Given the description of an element on the screen output the (x, y) to click on. 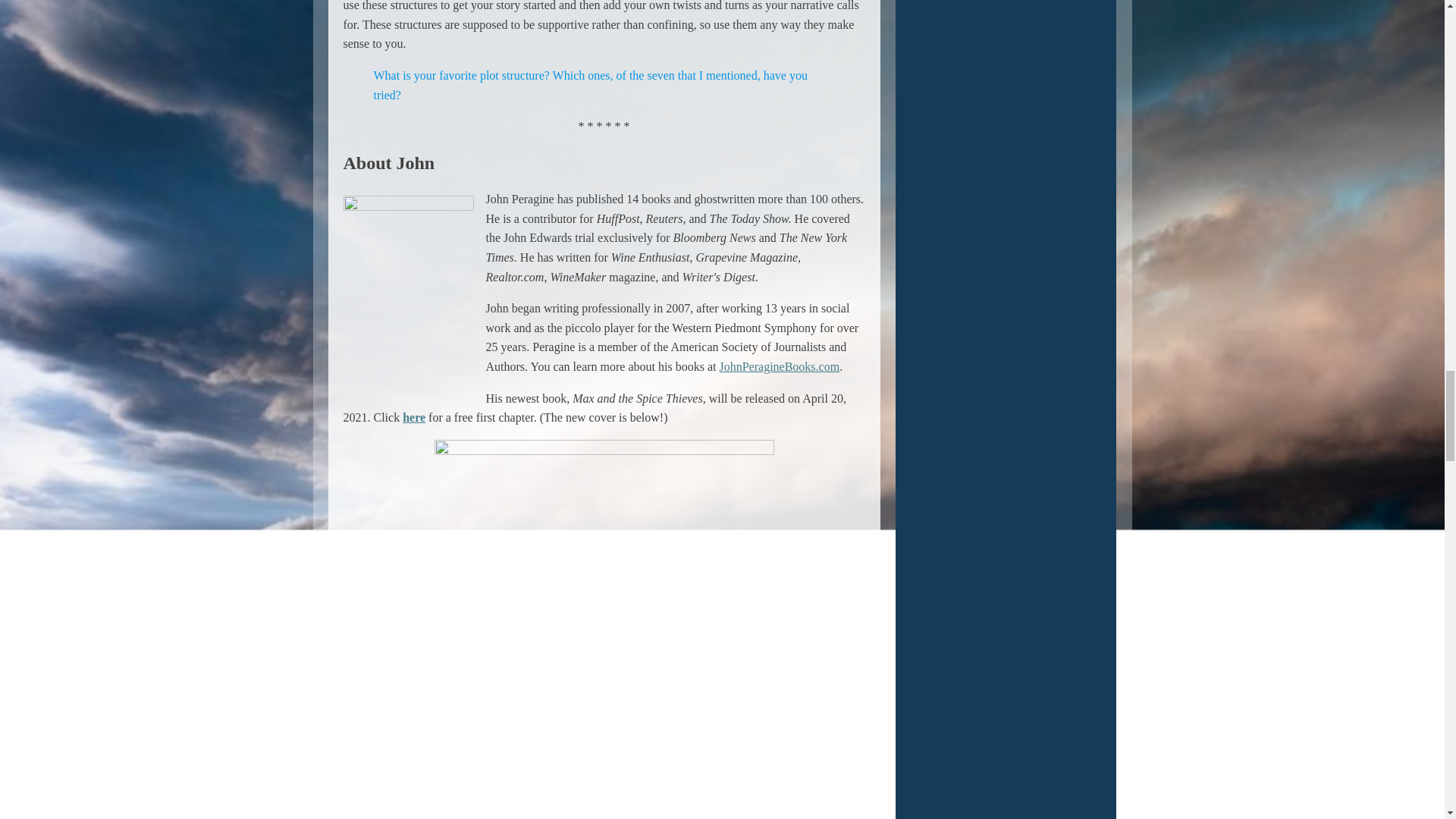
JohnPeragineBooks.com (779, 366)
here (414, 417)
